Given the description of an element on the screen output the (x, y) to click on. 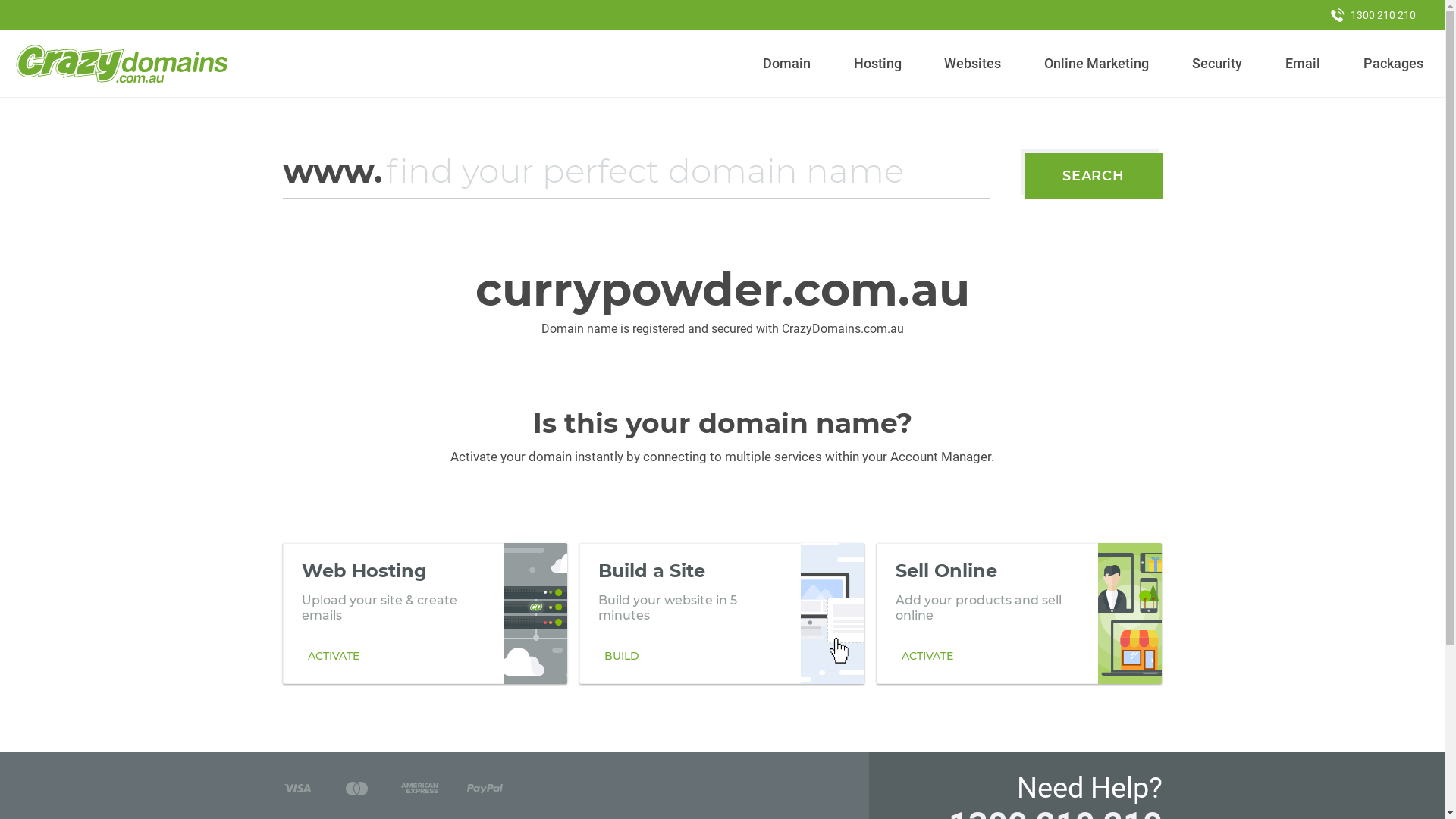
Packages Element type: text (1392, 63)
Domain Element type: text (786, 63)
Security Element type: text (1217, 63)
1300 210 210 Element type: text (1373, 15)
SEARCH Element type: text (1092, 175)
Web Hosting
Upload your site & create emails
ACTIVATE Element type: text (424, 613)
Hosting Element type: text (877, 63)
Websites Element type: text (972, 63)
Build a Site
Build your website in 5 minutes
BUILD Element type: text (721, 613)
Online Marketing Element type: text (1096, 63)
Sell Online
Add your products and sell online
ACTIVATE Element type: text (1018, 613)
Email Element type: text (1302, 63)
